Given the description of an element on the screen output the (x, y) to click on. 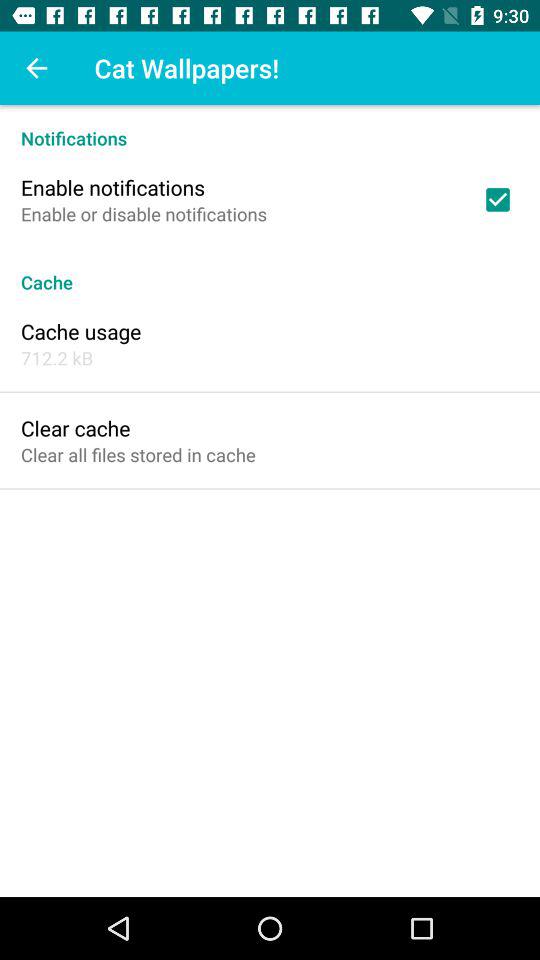
choose item at the top right corner (497, 199)
